Given the description of an element on the screen output the (x, y) to click on. 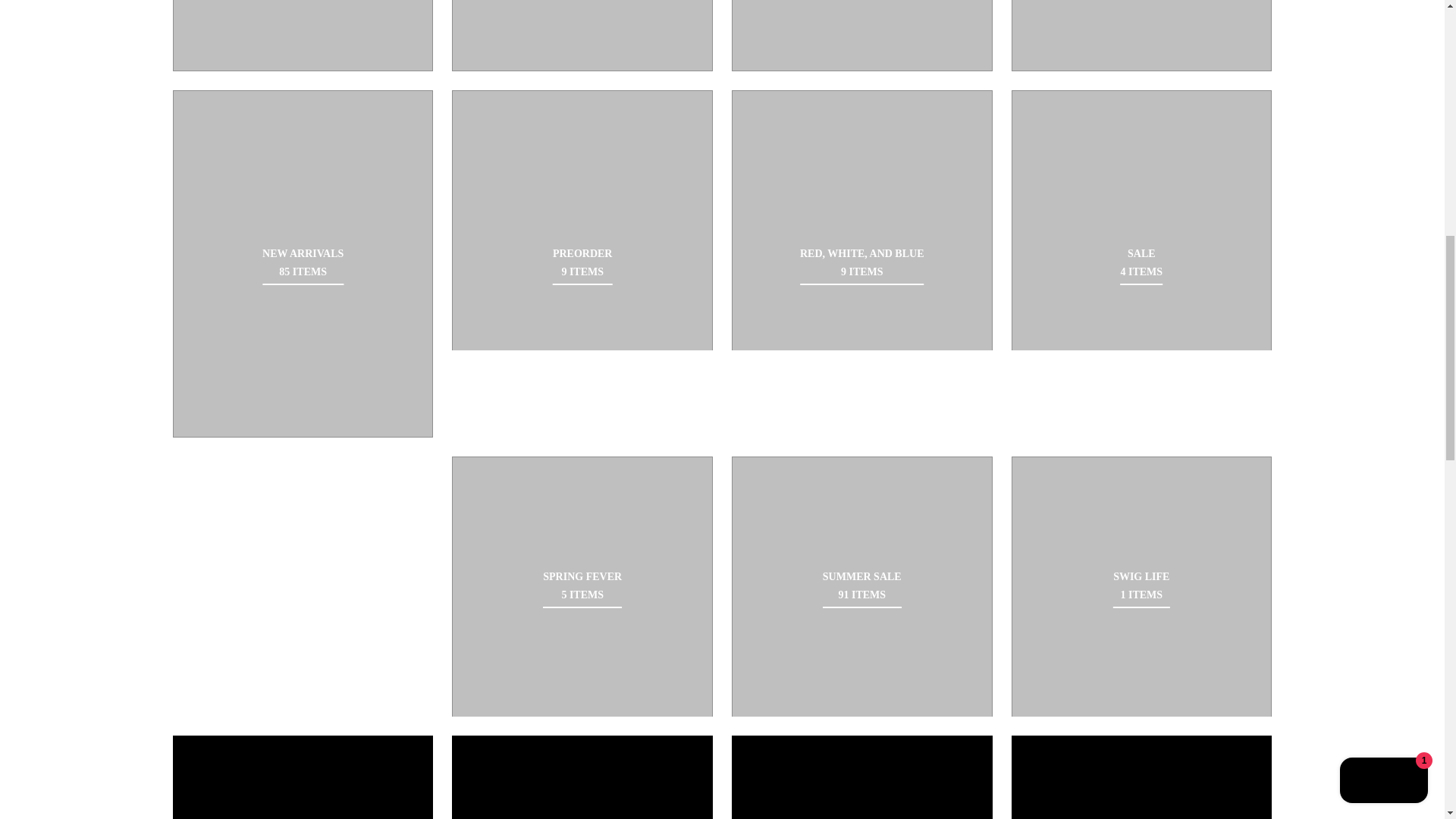
Graphic Tees (582, 35)
Mother's Day (1141, 35)
Gameday (303, 35)
PREORDER (582, 220)
Judy Blue Jeans (862, 35)
New Arrivals (302, 262)
